Given the description of an element on the screen output the (x, y) to click on. 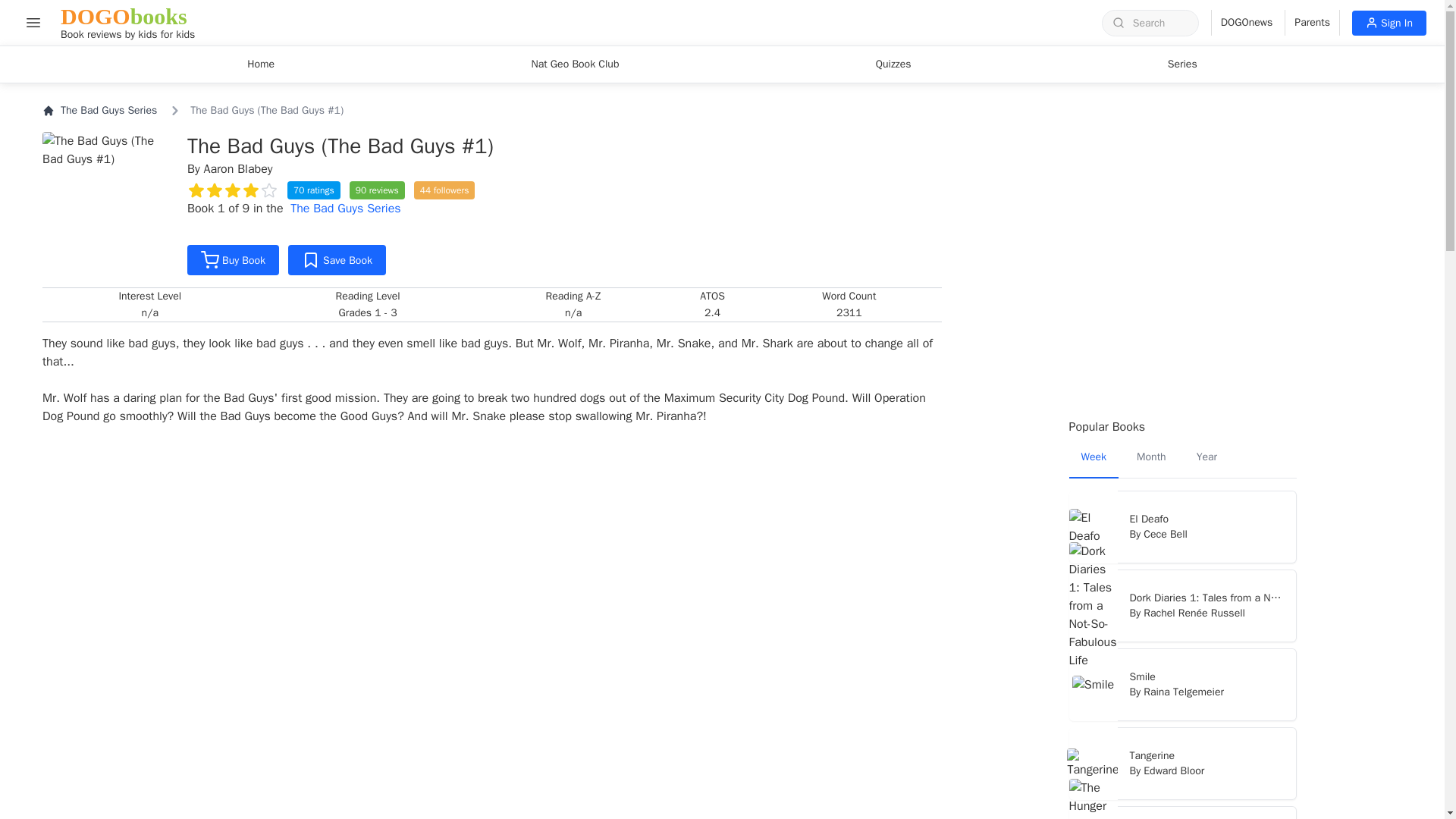
Nat Geo Book Club (574, 63)
The Bad Guys Series (128, 22)
Open main menu (344, 208)
3rd party ad content (33, 22)
Buy Book (1182, 196)
Sign In (233, 259)
Series (1389, 23)
3rd party ad content (1182, 63)
Parents (1182, 353)
